Given the description of an element on the screen output the (x, y) to click on. 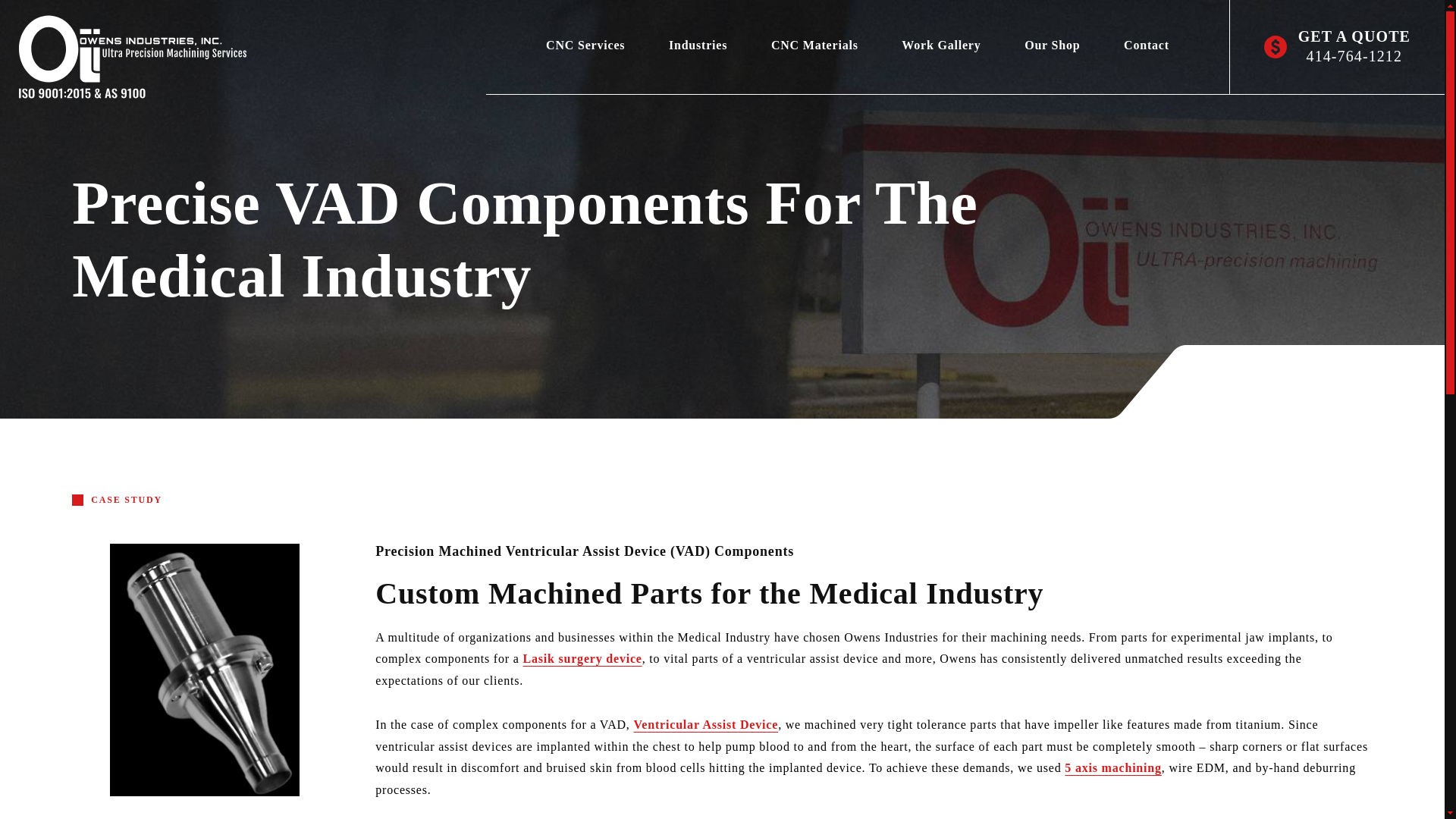
Industries (697, 45)
Industries We Serve (697, 45)
Our Shop (1052, 45)
Contact (1146, 45)
Learn About Our CNC Services (585, 45)
CNC Materials (814, 45)
Work Gallery (941, 45)
CNC Services (585, 45)
Ultra Precision Machining Services for any Industry (123, 56)
